Given the description of an element on the screen output the (x, y) to click on. 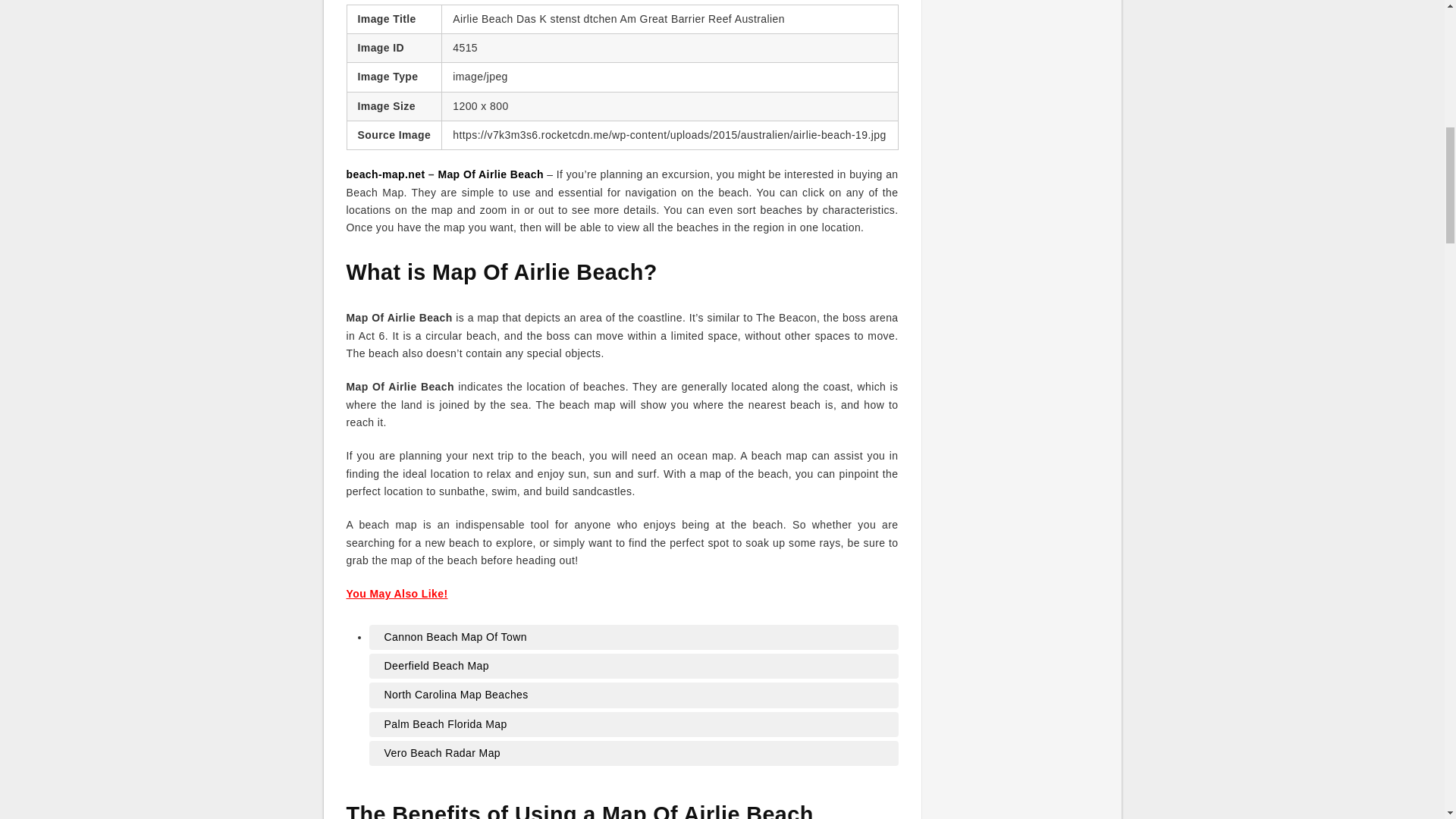
Vero Beach Radar Map (632, 752)
beach-map.net (385, 174)
Palm Beach Florida Map (632, 724)
Deerfield Beach Map (632, 666)
North Carolina Map Beaches (632, 694)
Cannon Beach Map Of Town (632, 637)
Map Of Airlie Beach (490, 174)
